Given the description of an element on the screen output the (x, y) to click on. 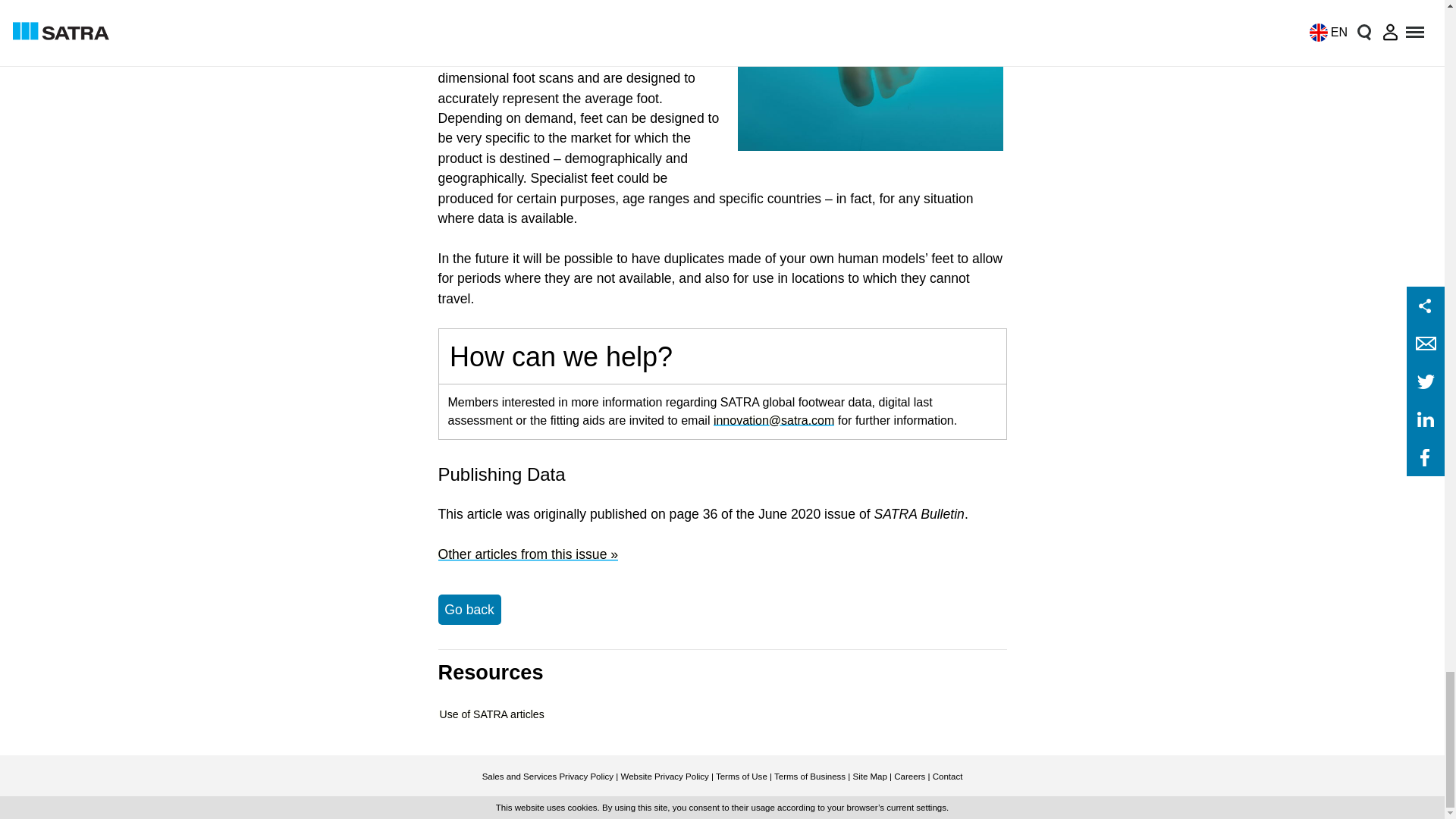
Use of SATRA articles (491, 714)
Go back (469, 609)
